Given the description of an element on the screen output the (x, y) to click on. 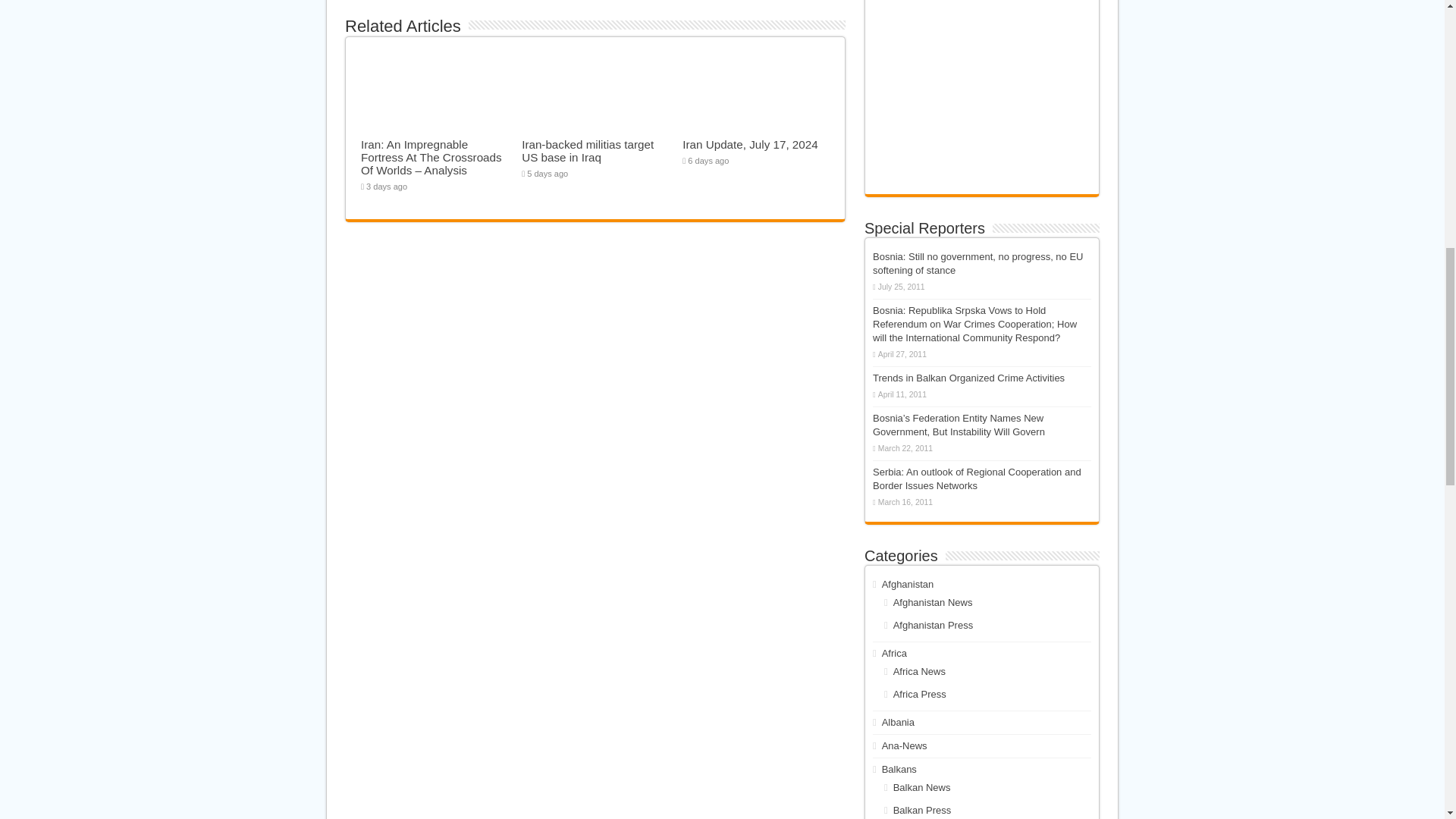
Iran Update, July 17, 2024 (749, 144)
Iran-backed militias target US base in Iraq (587, 150)
Scroll To Top (1421, 60)
